Given the description of an element on the screen output the (x, y) to click on. 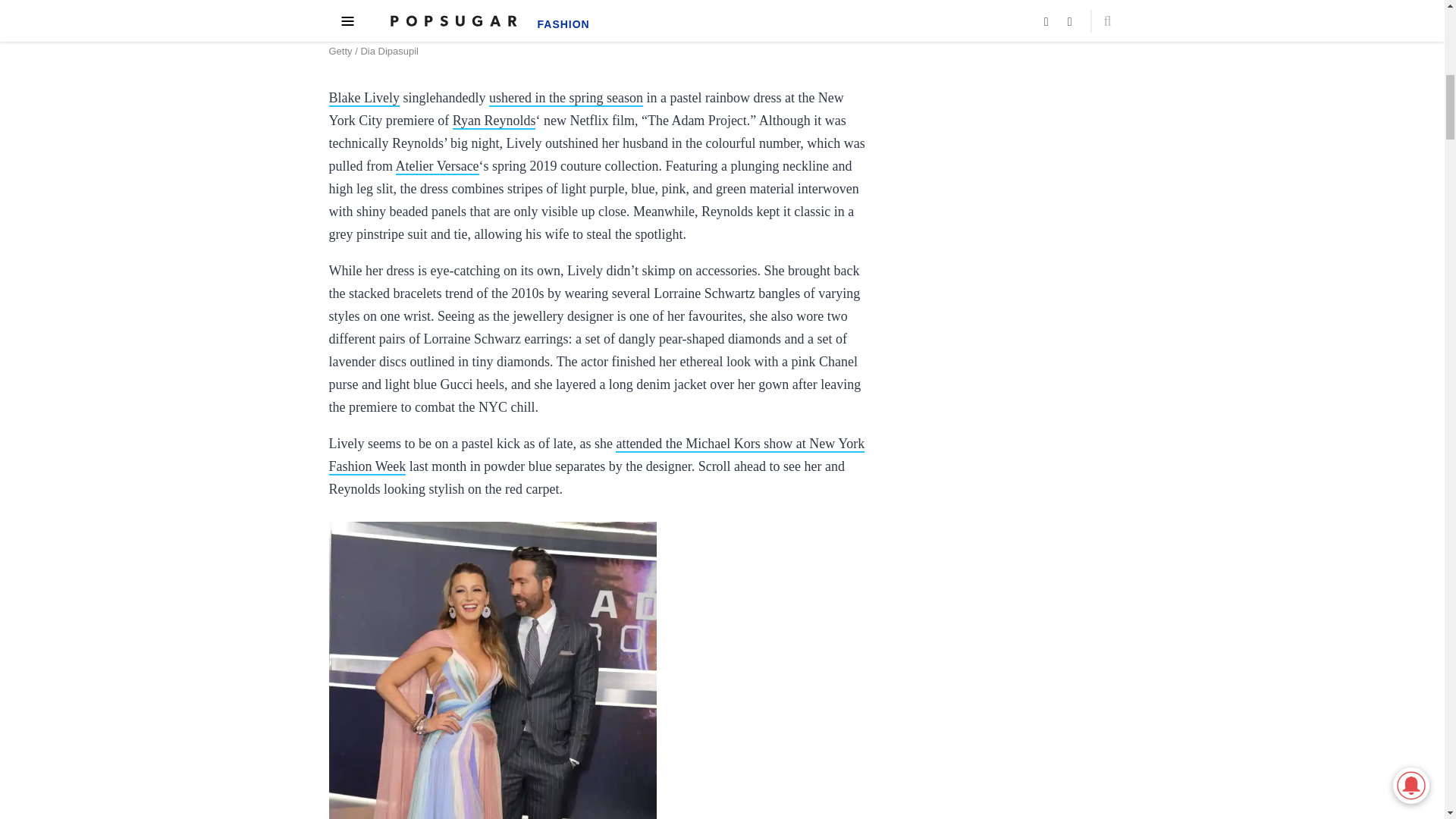
Ryan Reynolds (493, 121)
Atelier Versace (437, 166)
Blake Lively (363, 98)
attended the Michael Kors show at New York Fashion Week (596, 455)
Latest photos and news for Ryan Reynolds (493, 121)
ushered in the spring season (566, 98)
